Given the description of an element on the screen output the (x, y) to click on. 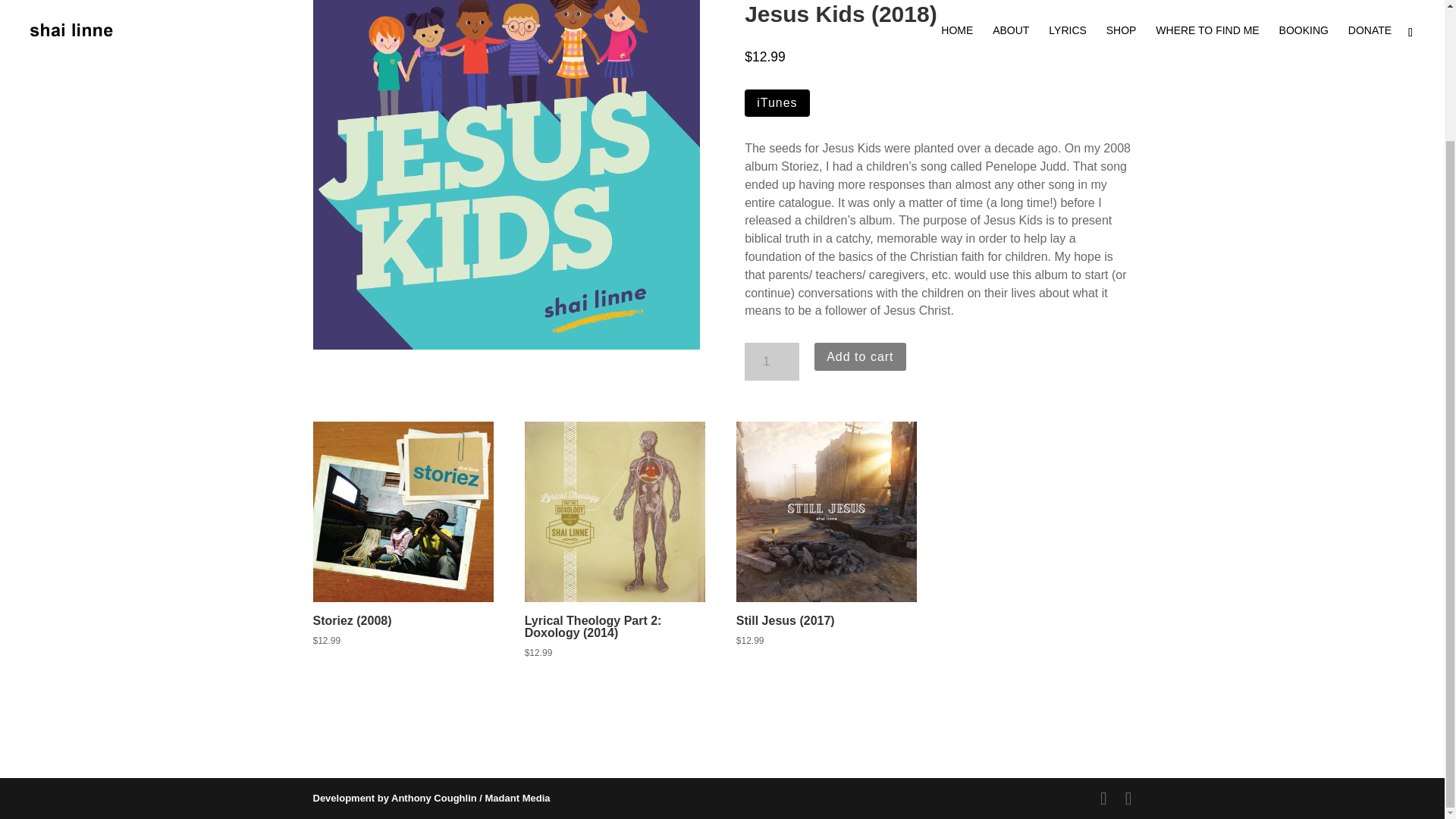
iTunes (776, 103)
Add to cart (859, 357)
Madant Media (517, 797)
1 (771, 361)
